Given the description of an element on the screen output the (x, y) to click on. 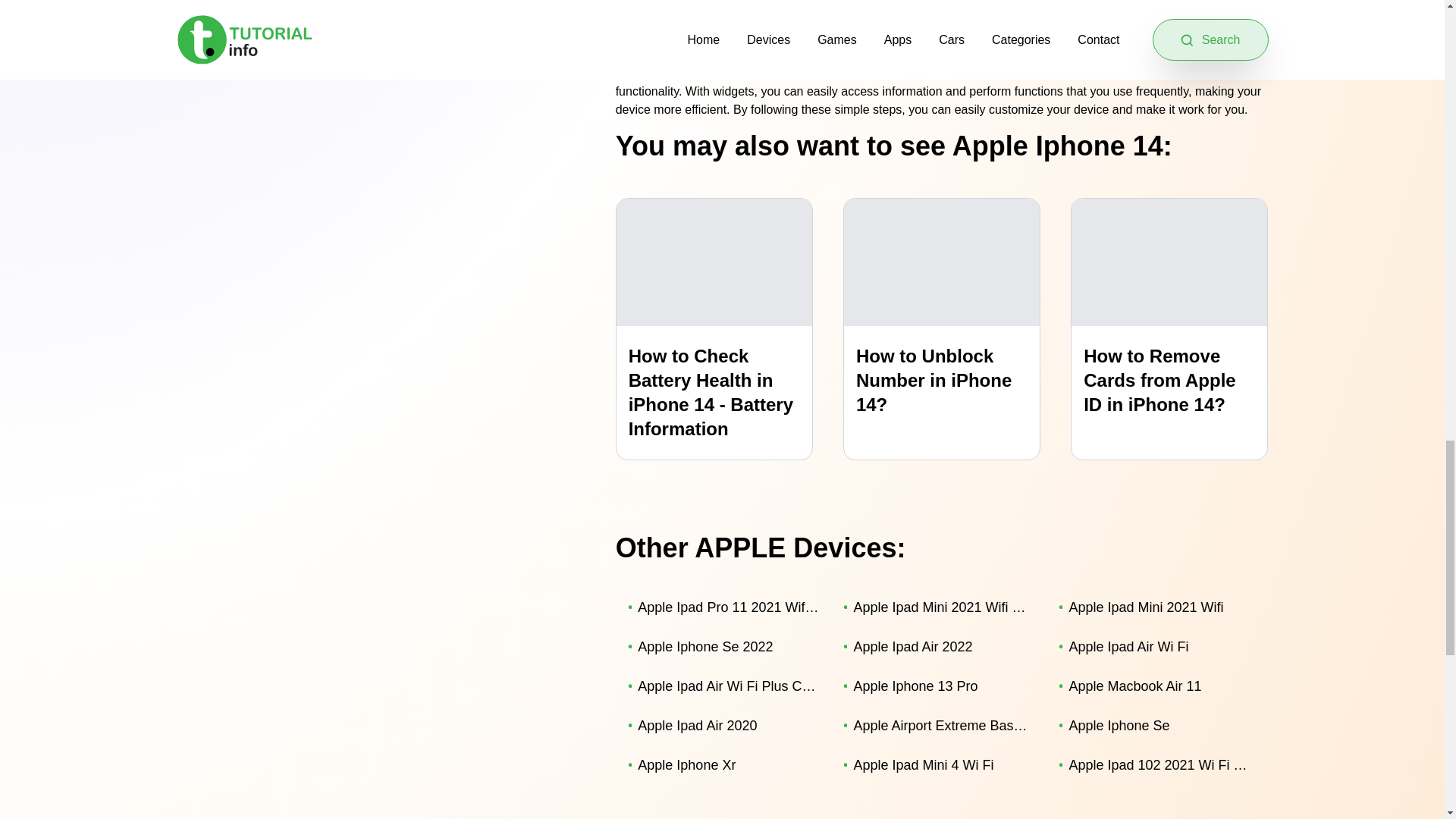
Apple Ipad 102 2021 Wi Fi Plus Cellular (1154, 764)
Apple Iphone Xr (723, 764)
Apple Ipad Air 2022 (938, 646)
Apple Ipad Air 2020 (723, 725)
Apple Iphone Se (1154, 725)
Apple Ipad Mini 2021 Wifi (1154, 607)
Apple Iphone 13 Pro (938, 685)
Apple Ipad Mini 2021 Wifi Plus Cellular (938, 607)
Apple Airport Extreme Base Station (938, 725)
Apple Iphone Se 2022 (723, 646)
Apple Ipad Air Wi Fi (1154, 646)
Apple Ipad Mini 4 Wi Fi (938, 764)
Apple Ipad Pro 11 2021 Wifi Plus Cellular (723, 607)
